Given the description of an element on the screen output the (x, y) to click on. 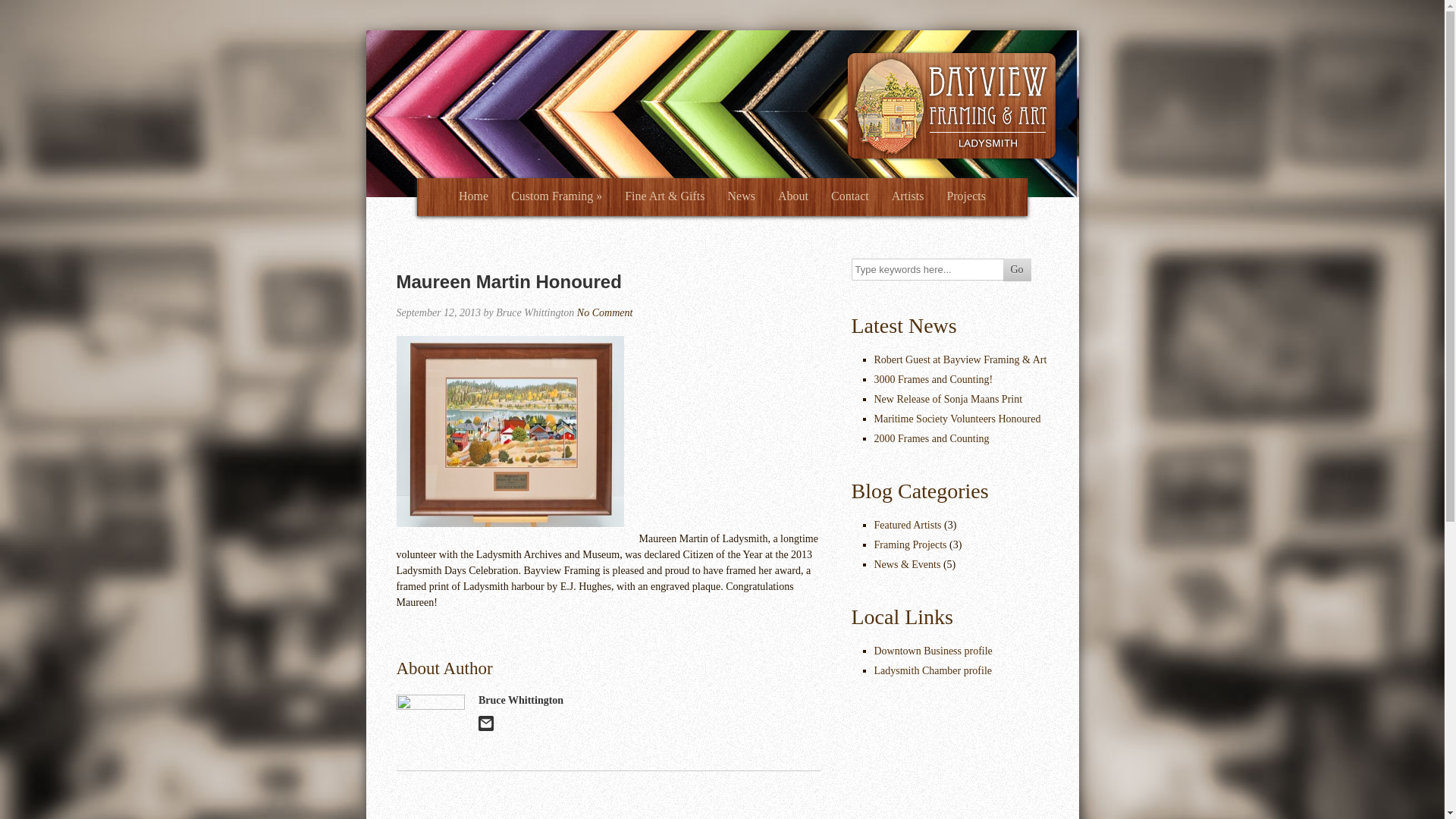
Go (1016, 269)
Maritime Society Volunteers Honoured (957, 419)
About (793, 197)
2000 Frames and Counting (930, 438)
Go (1016, 269)
Projects (965, 197)
Downtown Business profile (932, 650)
Home (472, 197)
News (741, 197)
No Comment (604, 312)
New Release of Sonja Maans Print (947, 398)
Ladysmith Chamber of Commerce (932, 670)
Artists (908, 197)
3000 Frames and Counting! (932, 378)
Go (1016, 269)
